Given the description of an element on the screen output the (x, y) to click on. 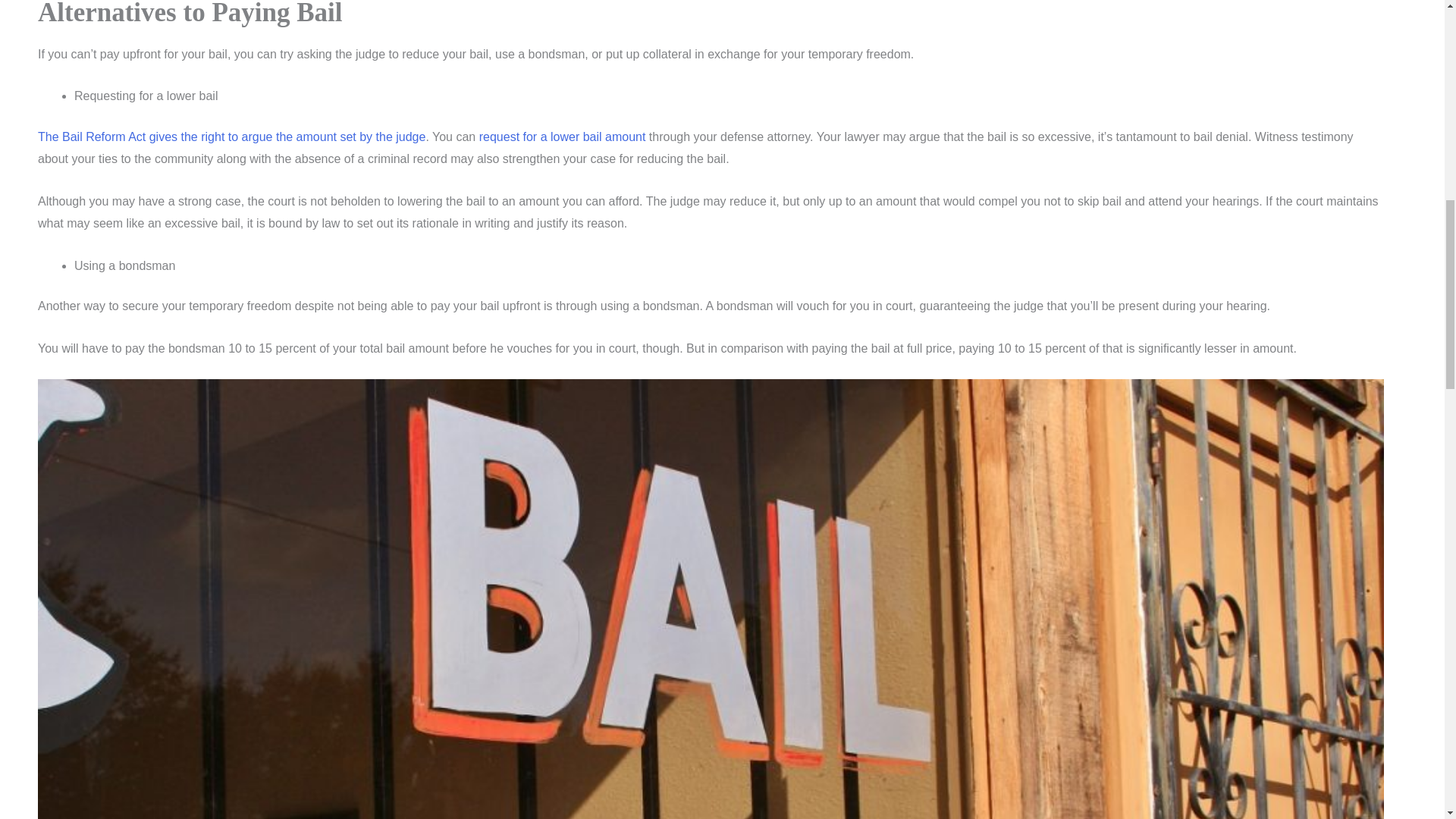
HG.org (562, 136)
request for a lower bail amount (562, 136)
